Given the description of an element on the screen output the (x, y) to click on. 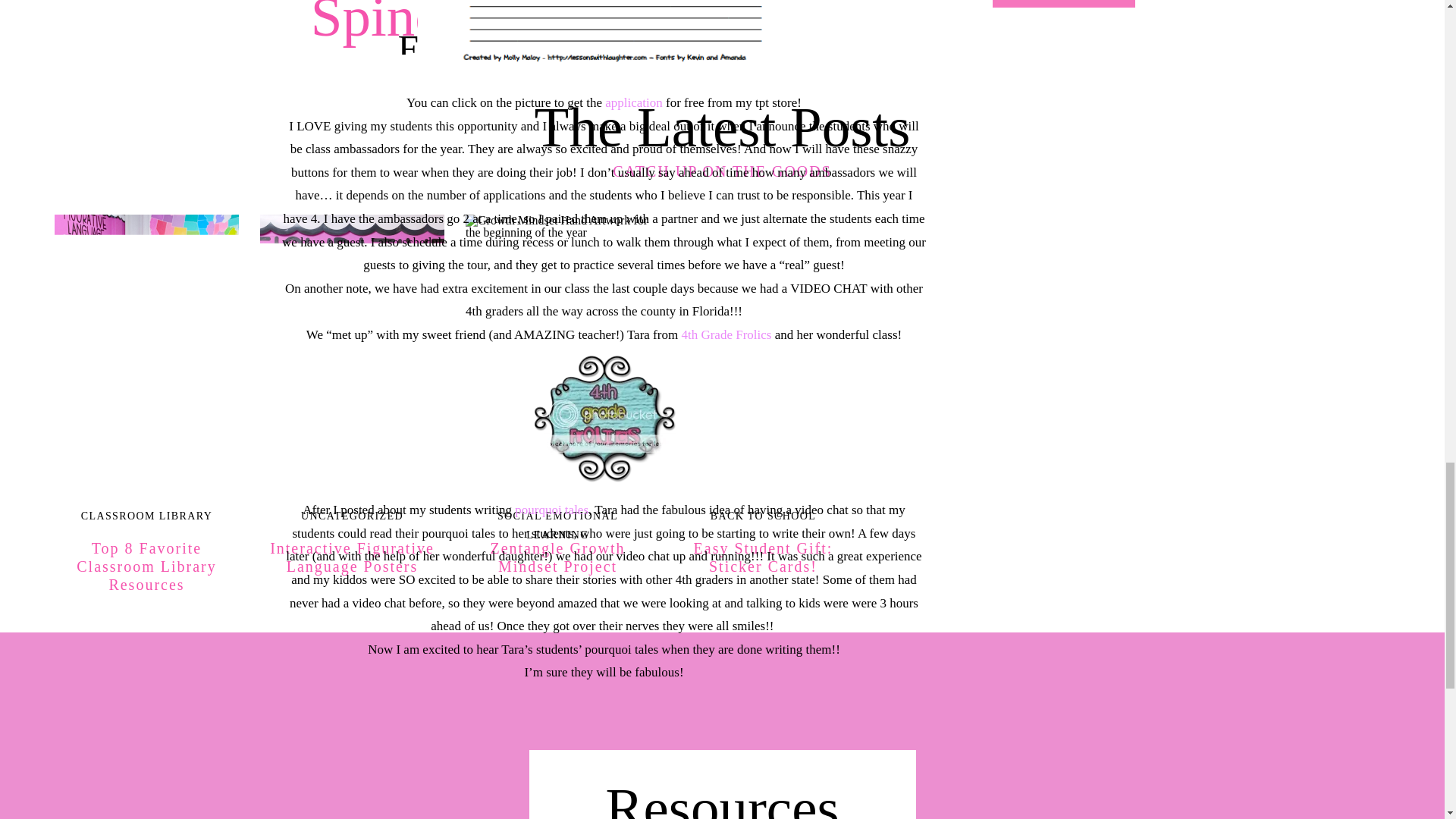
pourquoi tales (551, 509)
Reply (318, 118)
application (633, 102)
4th Grade Frolics (726, 334)
First Class Teacher (350, 83)
Allie (316, 154)
